Given the description of an element on the screen output the (x, y) to click on. 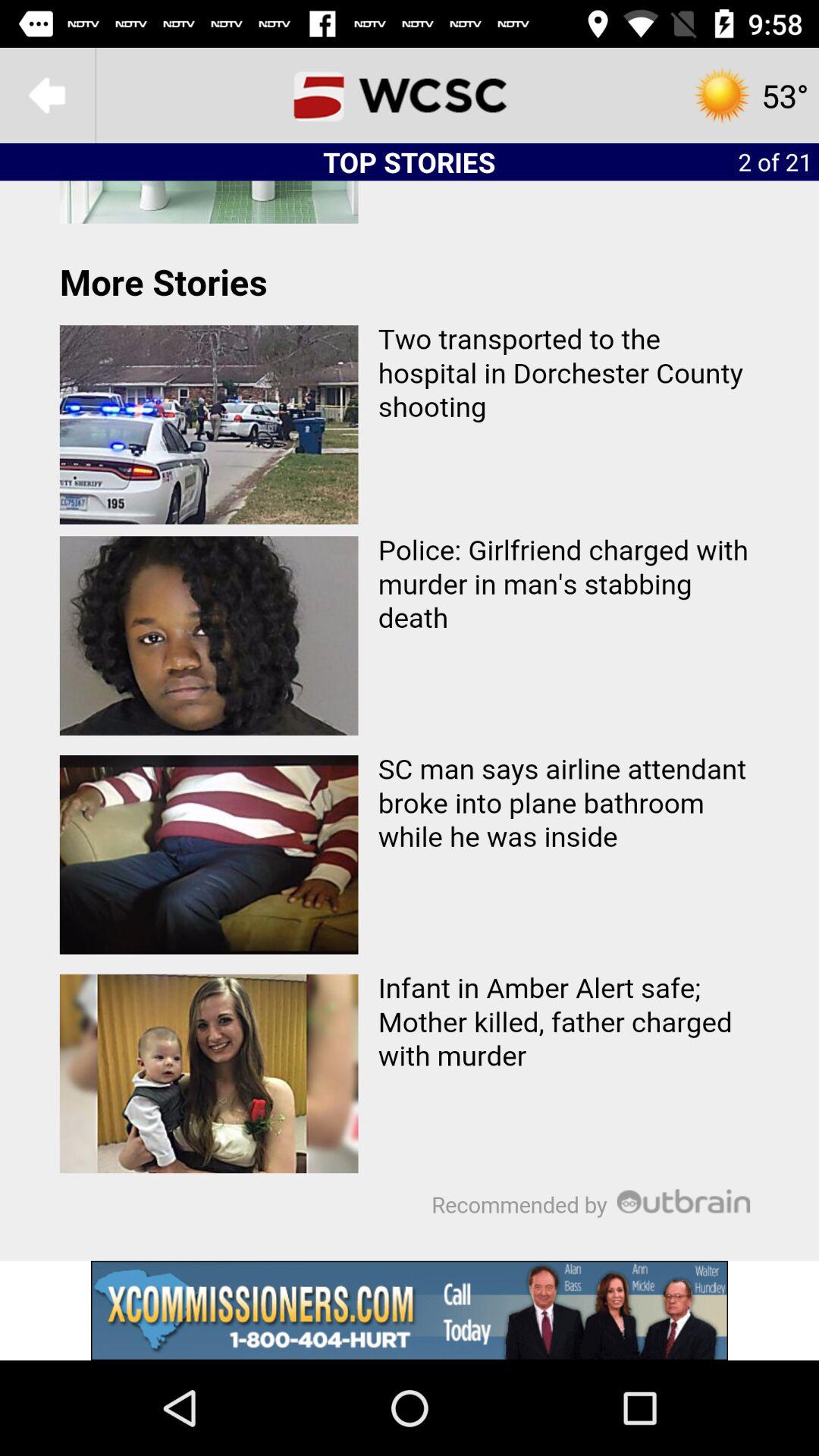
top stories (409, 720)
